Given the description of an element on the screen output the (x, y) to click on. 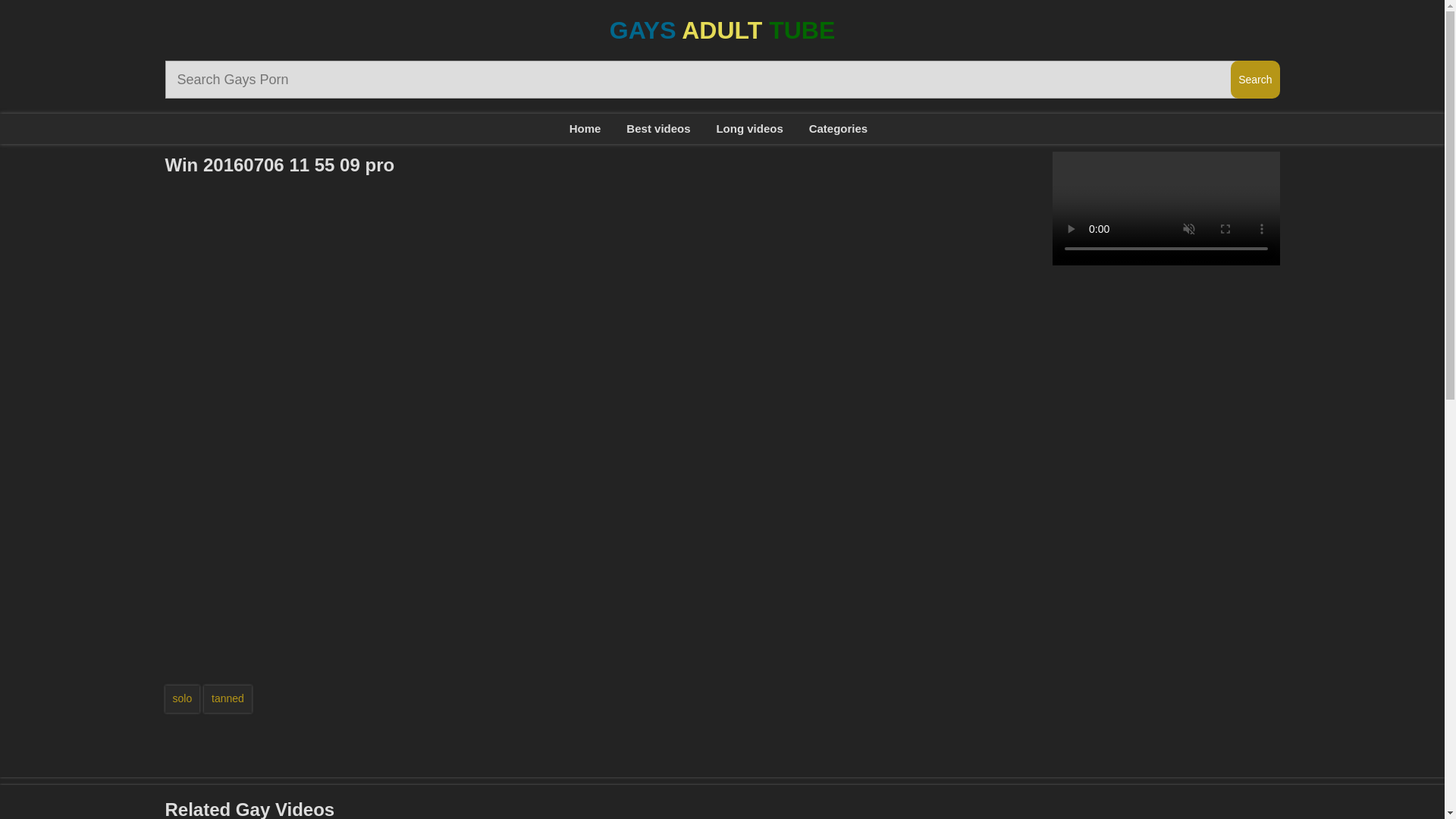
Categories (839, 128)
Search (1254, 79)
Search (1254, 79)
Home (585, 128)
Long videos (748, 128)
tanned (227, 698)
Best videos (657, 128)
solo (182, 698)
GAYS ADULT TUBE (722, 30)
Search (1254, 79)
